Given the description of an element on the screen output the (x, y) to click on. 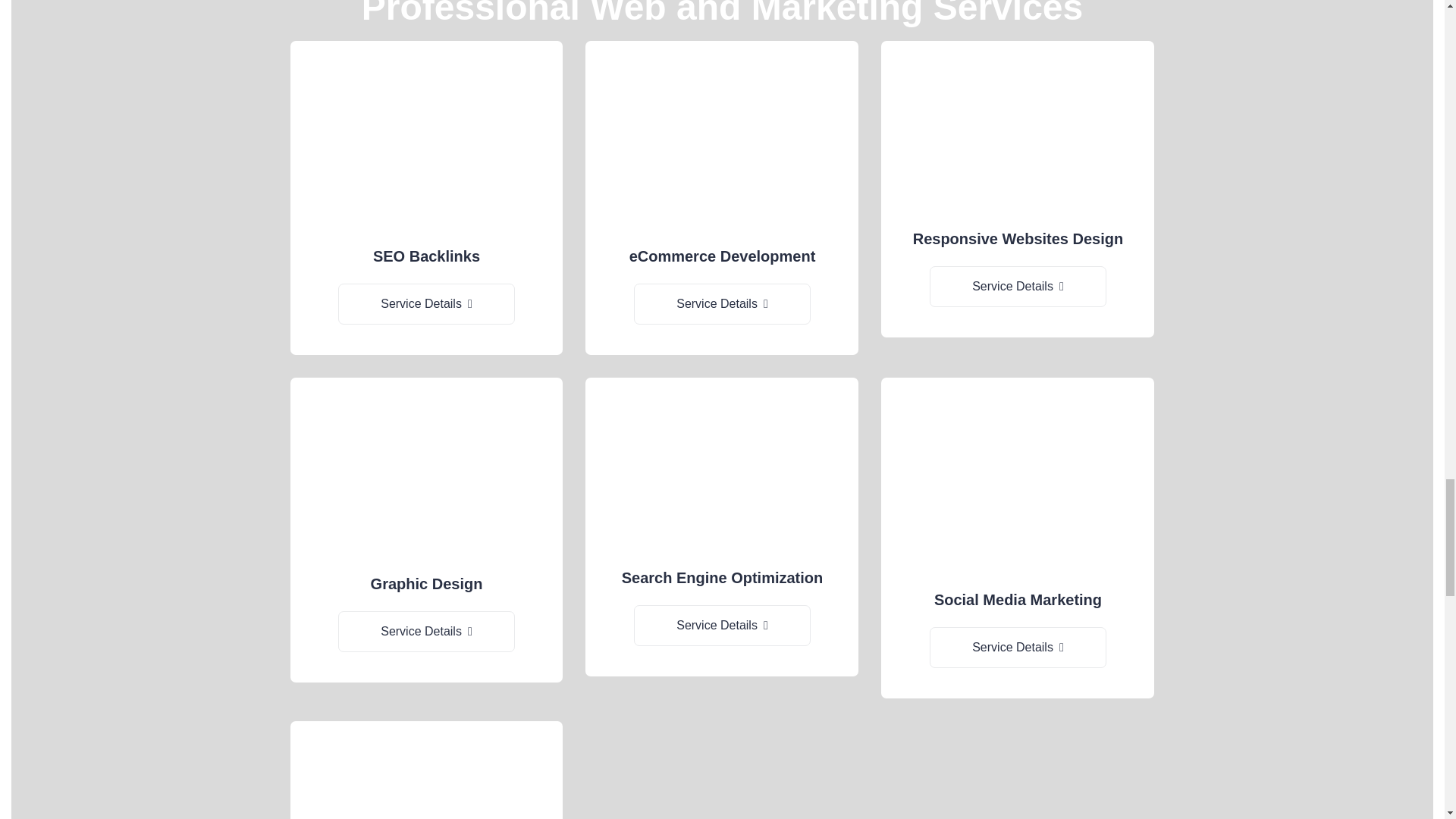
eCommerce Development 2 (721, 145)
Responsive Websites Design 3 (1017, 136)
Graphic Design 4 (426, 477)
Social Media Marketing 6 (1018, 485)
Search Engine Optimization 5 (721, 474)
SEO Backlinks 1 (426, 145)
